Given the description of an element on the screen output the (x, y) to click on. 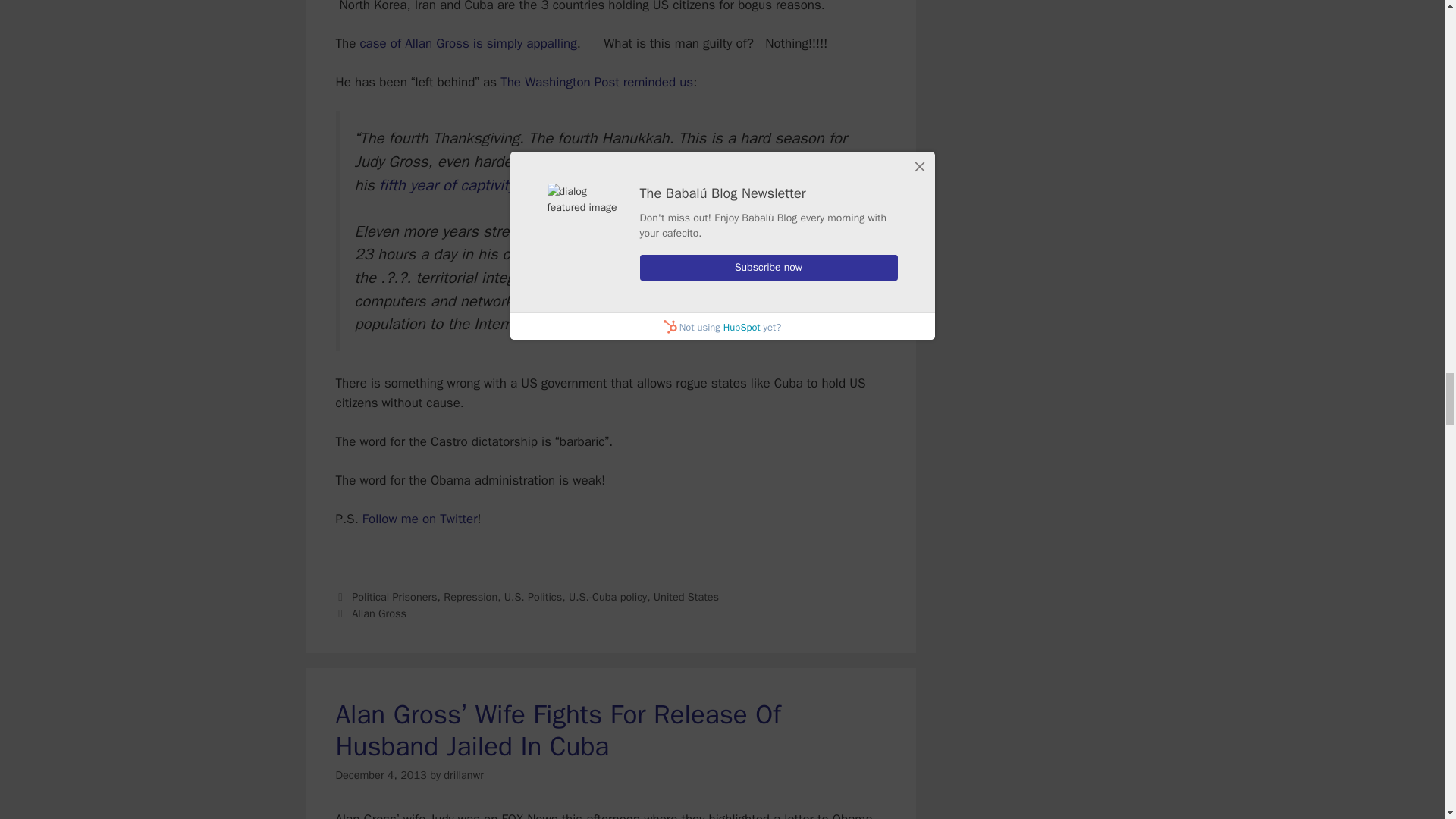
View all posts by drillanwr (463, 775)
